Given the description of an element on the screen output the (x, y) to click on. 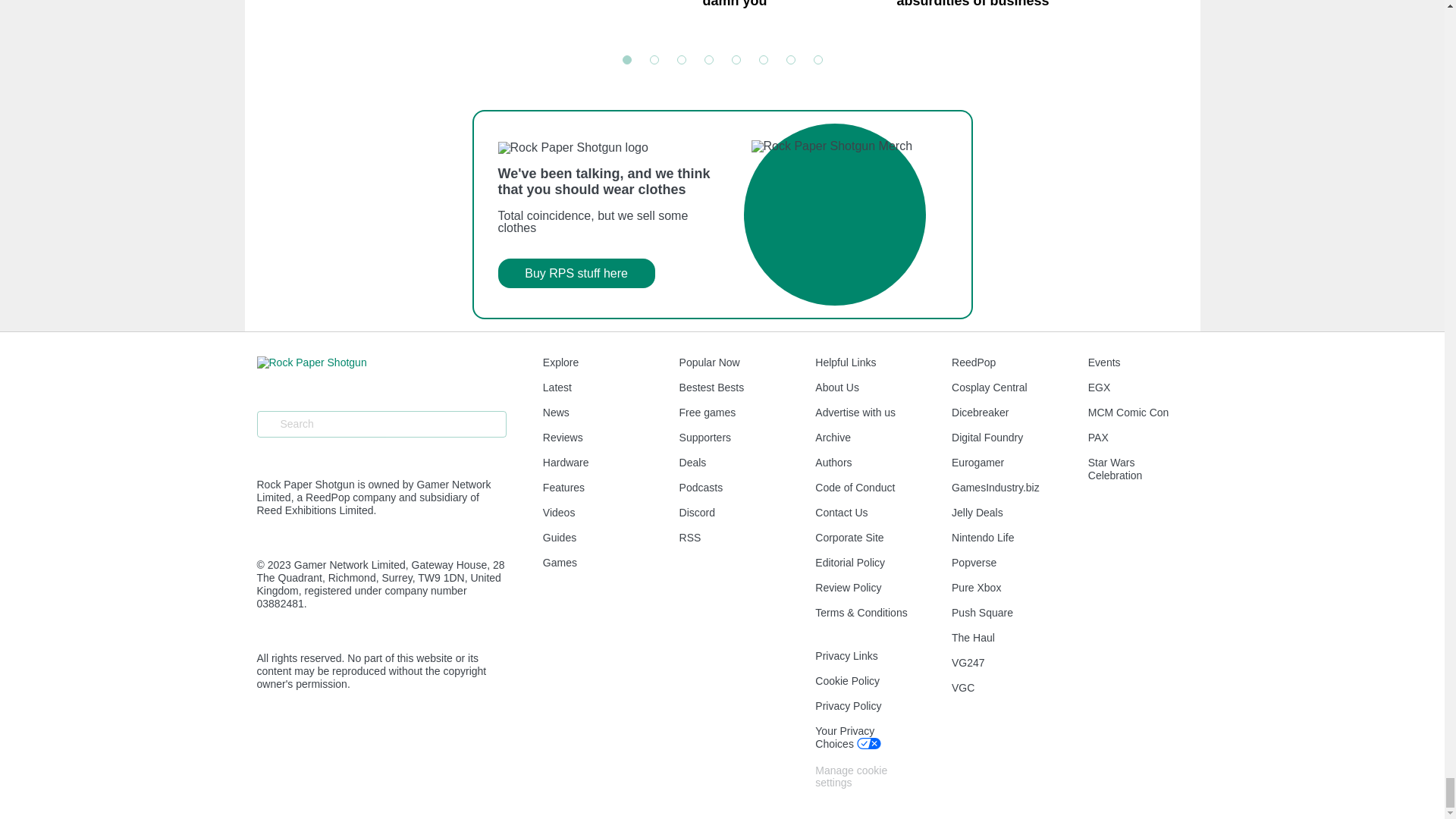
The Sunday Papers (405, 18)
What are we all playing this weekend? (599, 18)
The 25 best action games on PC to play in 2023 (722, 214)
The best free PC games (1181, 18)
Look, just bloody play Loretta, damn you (792, 18)
